Given the description of an element on the screen output the (x, y) to click on. 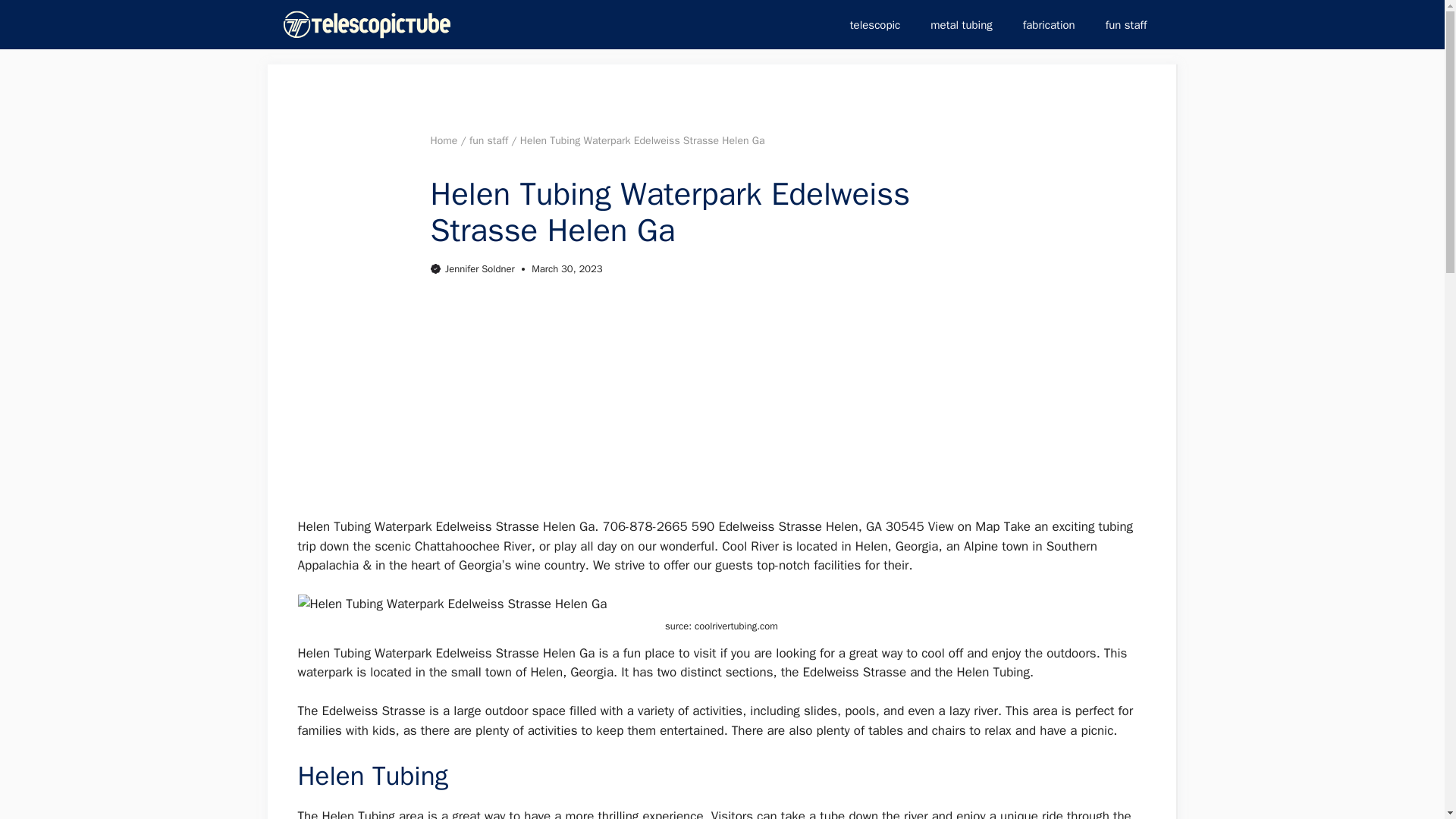
fun staff (488, 140)
metal tubing (961, 23)
Home (444, 140)
Telescopic Tube (367, 24)
fun staff (1125, 23)
fabrication (1048, 23)
Jennifer Soldner (480, 268)
telescopic (874, 23)
